Given the description of an element on the screen output the (x, y) to click on. 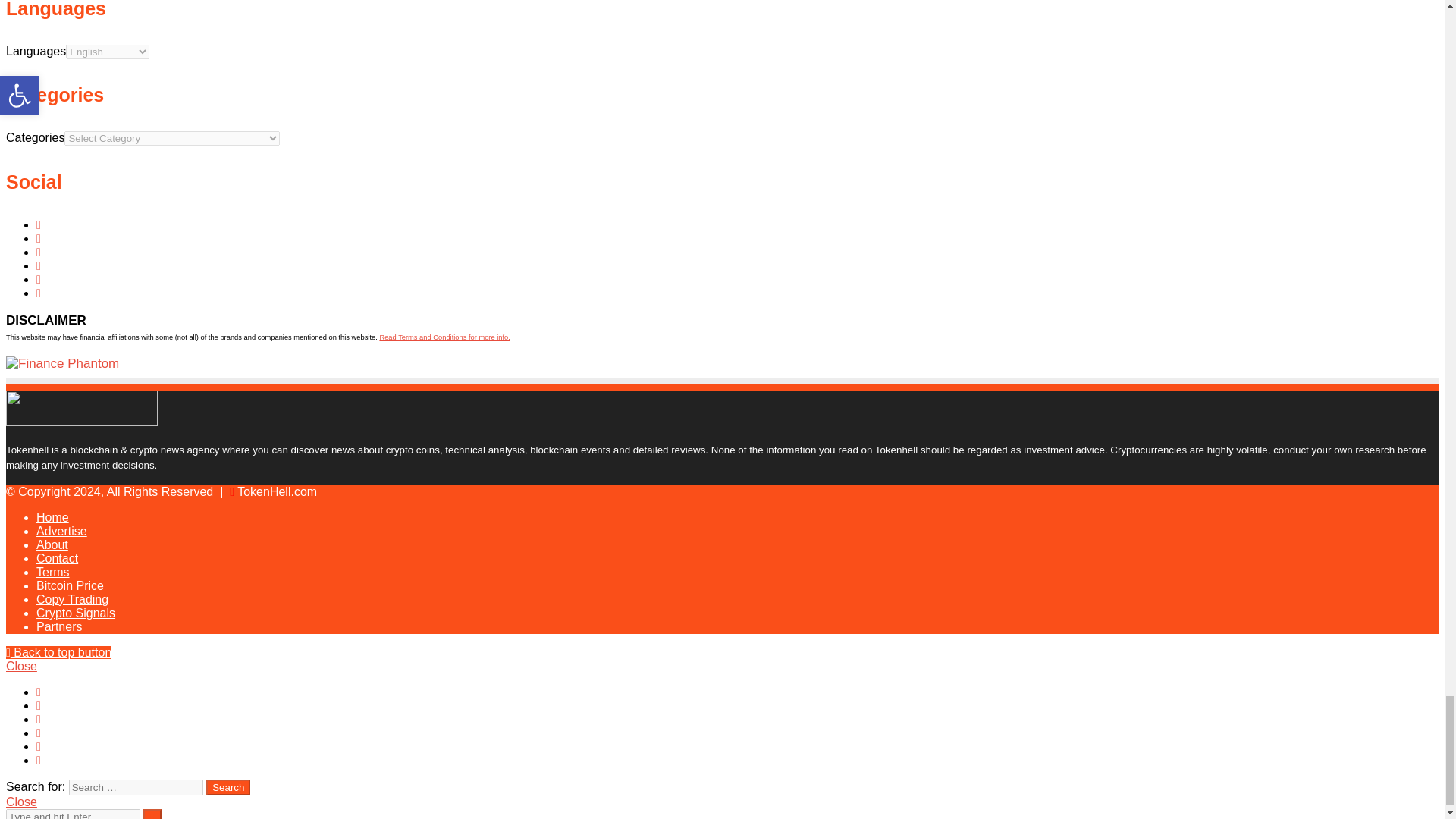
Search (228, 787)
Search (228, 787)
